Given the description of an element on the screen output the (x, y) to click on. 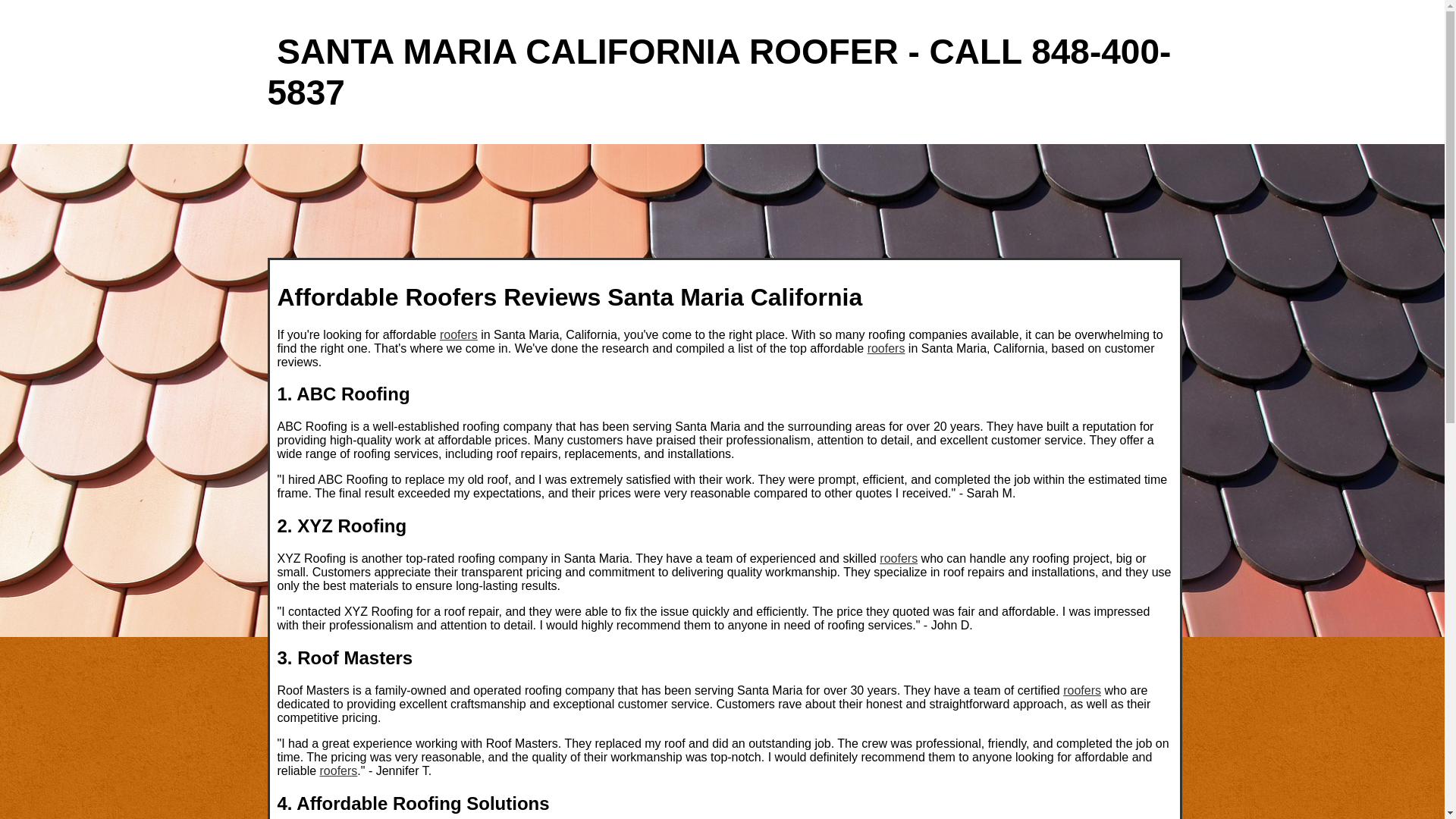
roofers (458, 333)
roofers (898, 558)
roofers (886, 347)
roofers (339, 770)
roofers (1081, 689)
